Given the description of an element on the screen output the (x, y) to click on. 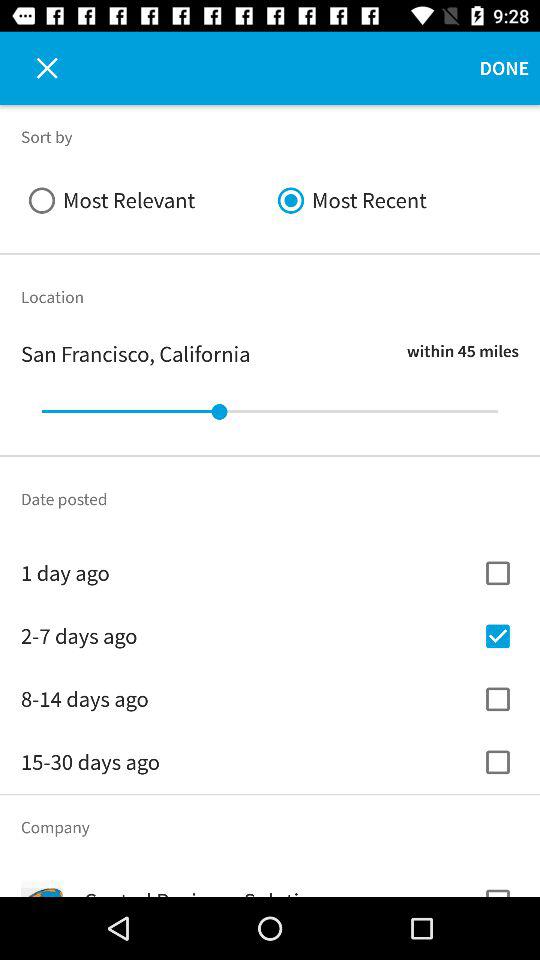
select icon to the right of the most relevant icon (394, 200)
